Given the description of an element on the screen output the (x, y) to click on. 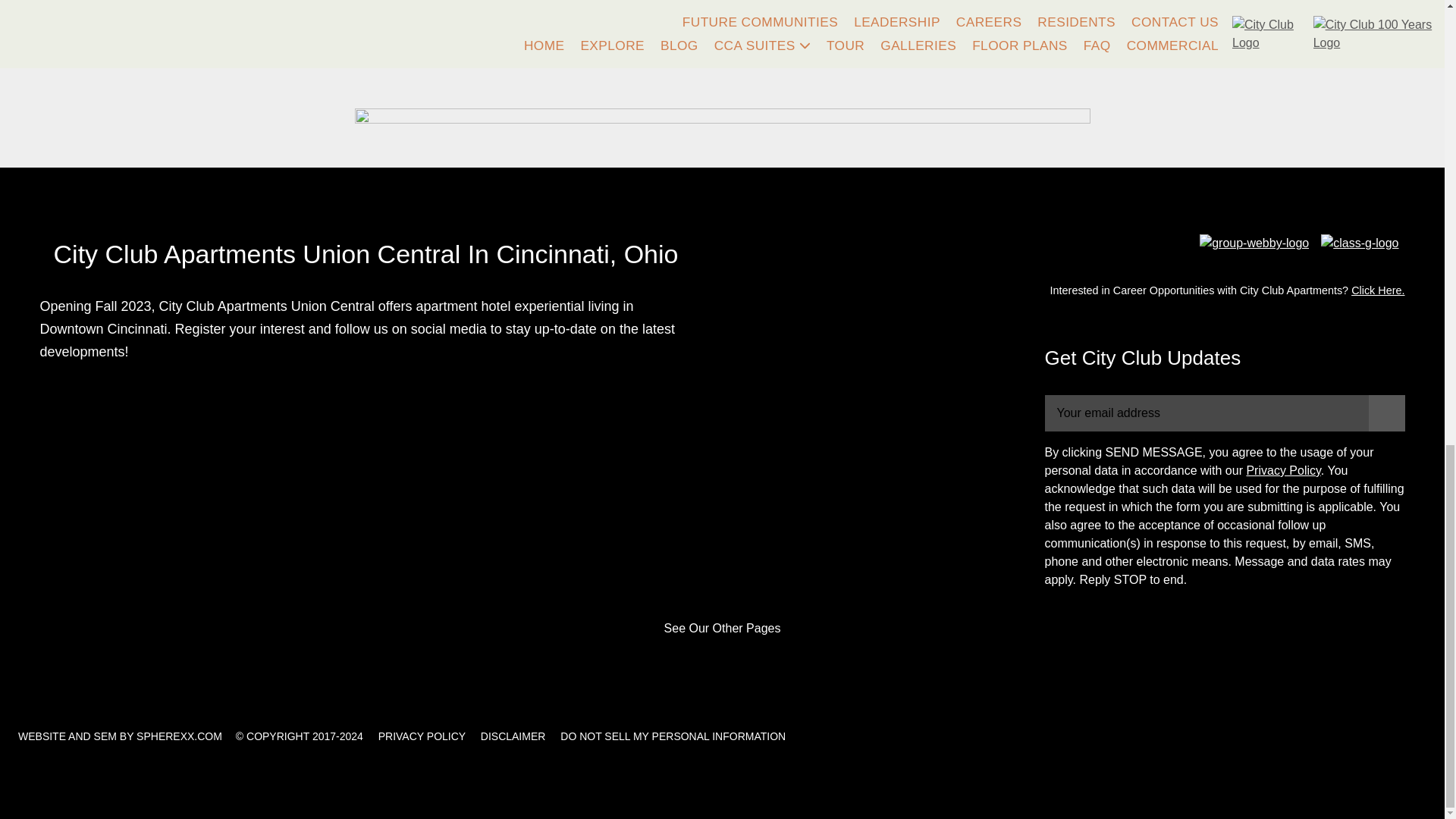
WEBSITE AND SEM BY SPHEREXX.COM (119, 736)
See Our Other Pages (721, 627)
Privacy Policy (1283, 470)
Click Here. (1378, 290)
Send (1386, 412)
DISCLAIMER (513, 736)
DO NOT SELL MY PERSONAL INFORMATION (673, 736)
PRIVACY POLICY (421, 736)
